Given the description of an element on the screen output the (x, y) to click on. 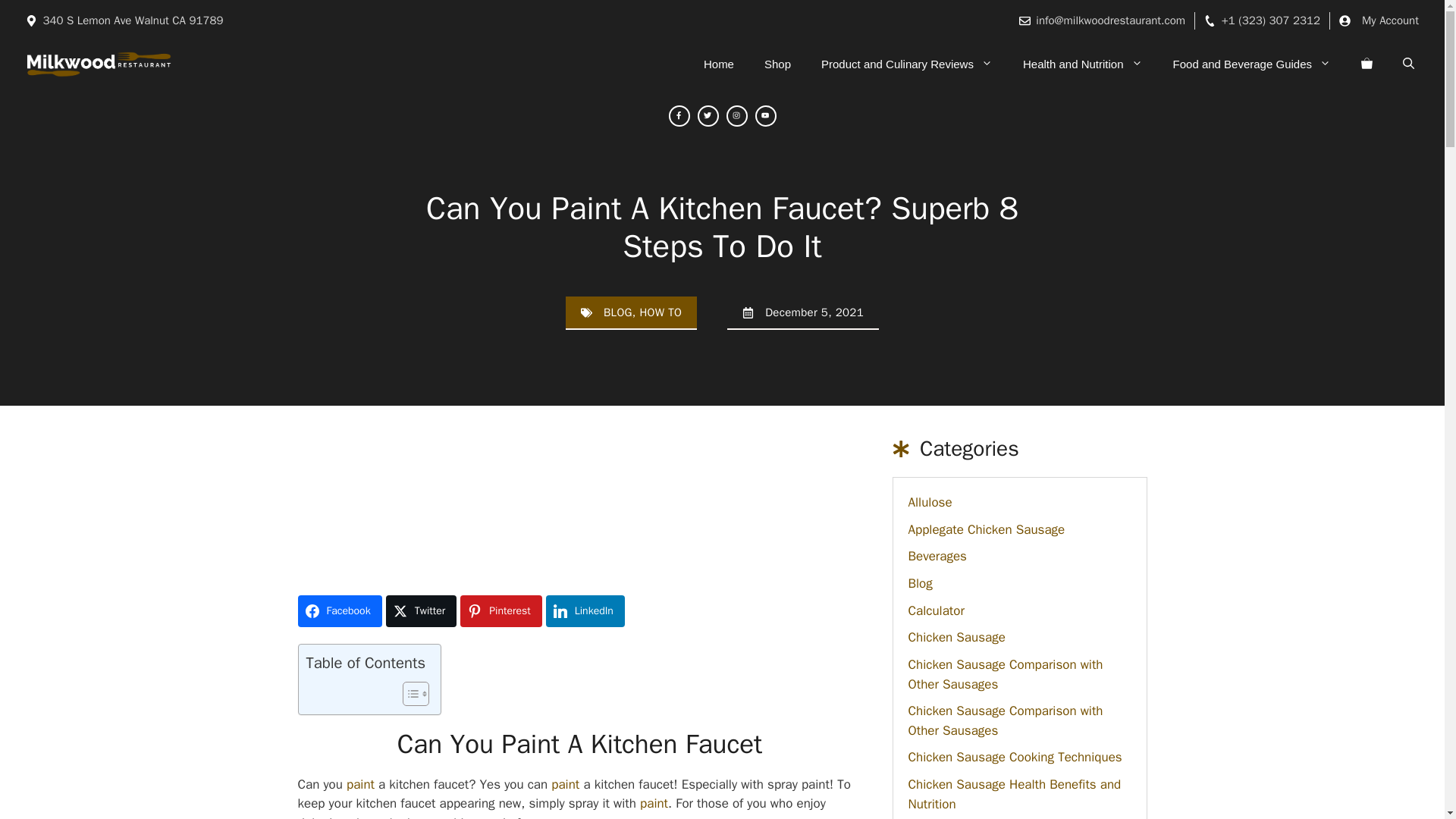
Share on Pinterest (500, 611)
View your shopping cart (1366, 63)
Food and Beverage Guides (1251, 63)
Home (718, 63)
Share on Facebook (339, 611)
Share on Twitter (421, 611)
Product and Culinary Reviews (906, 63)
Health and Nutrition (1082, 63)
My Account (1389, 20)
Share on LinkedIn (585, 611)
Shop (777, 63)
MilkwoodRestaurant (98, 63)
